Given the description of an element on the screen output the (x, y) to click on. 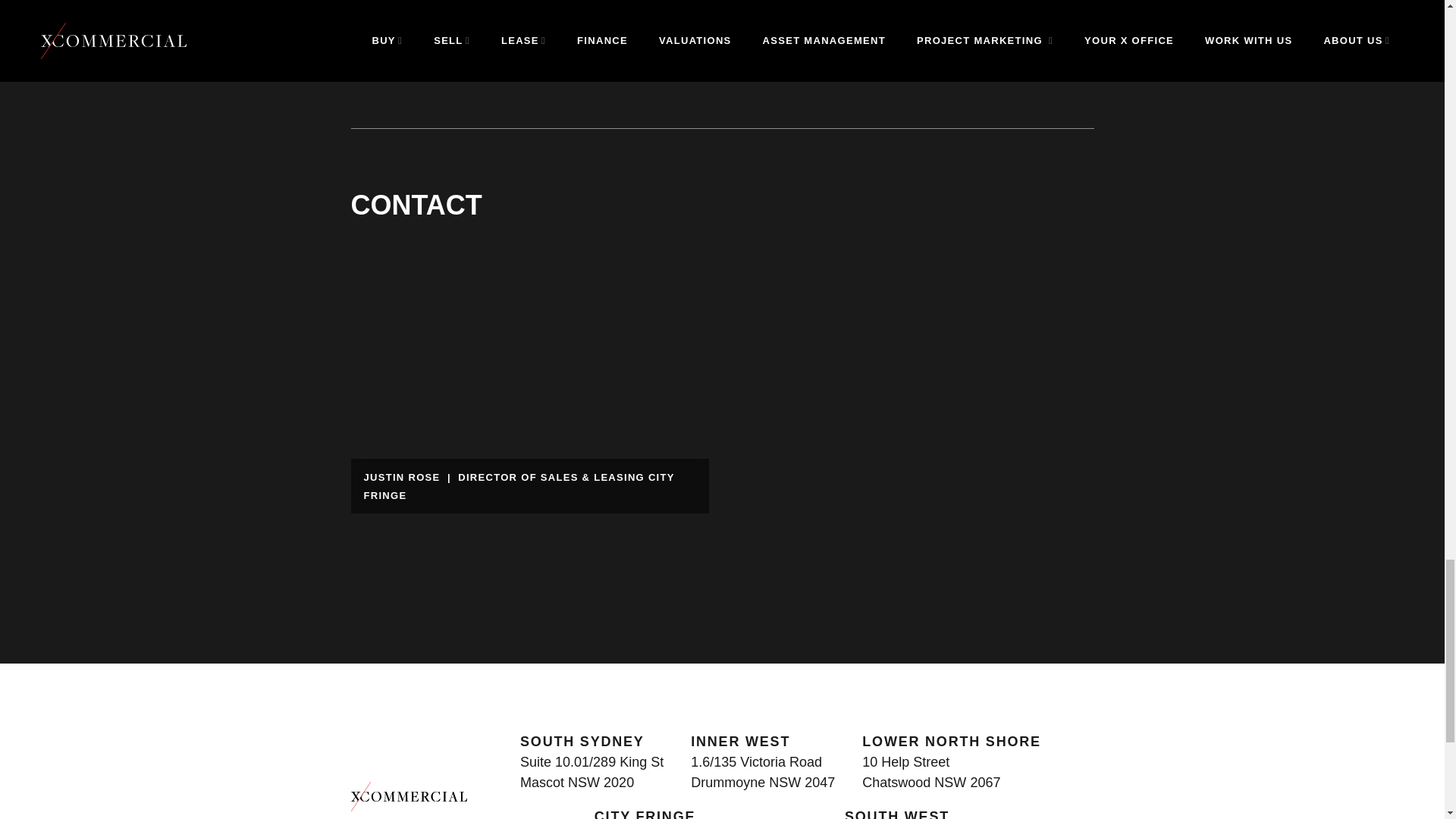
LOWER NORTH SHORE (951, 741)
INNER WEST (740, 741)
CITY FRINGE (644, 814)
SOUTH SYDNEY (582, 741)
SOUTH WEST (896, 814)
